Given the description of an element on the screen output the (x, y) to click on. 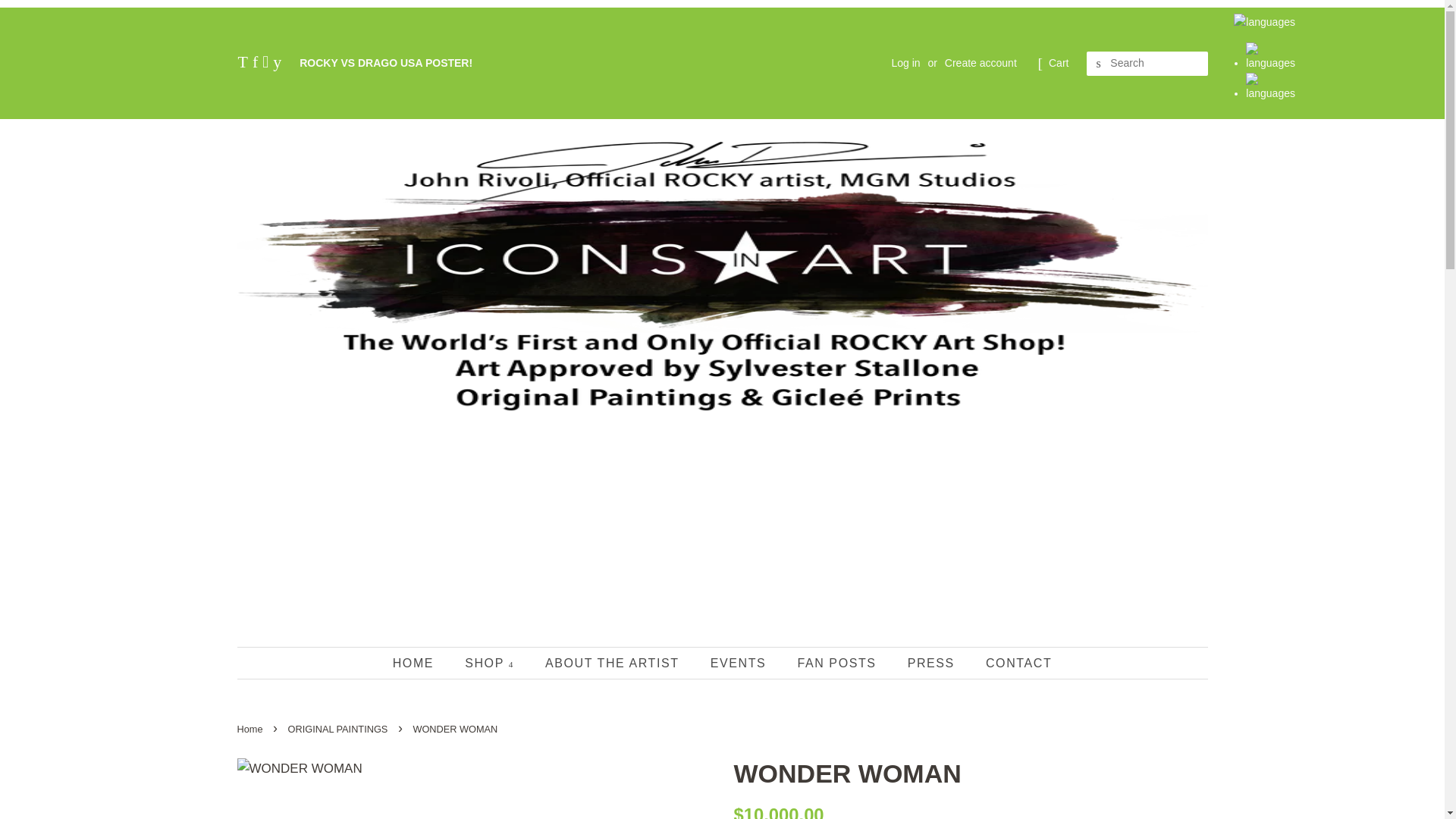
Cart (1058, 63)
Log in (905, 62)
SEARCH (1098, 63)
Create account (980, 62)
Back to the frontpage (250, 728)
SHOP (490, 662)
HOME (420, 662)
ROCKY VS DRAGO USA POSTER! (385, 62)
